Given the description of an element on the screen output the (x, y) to click on. 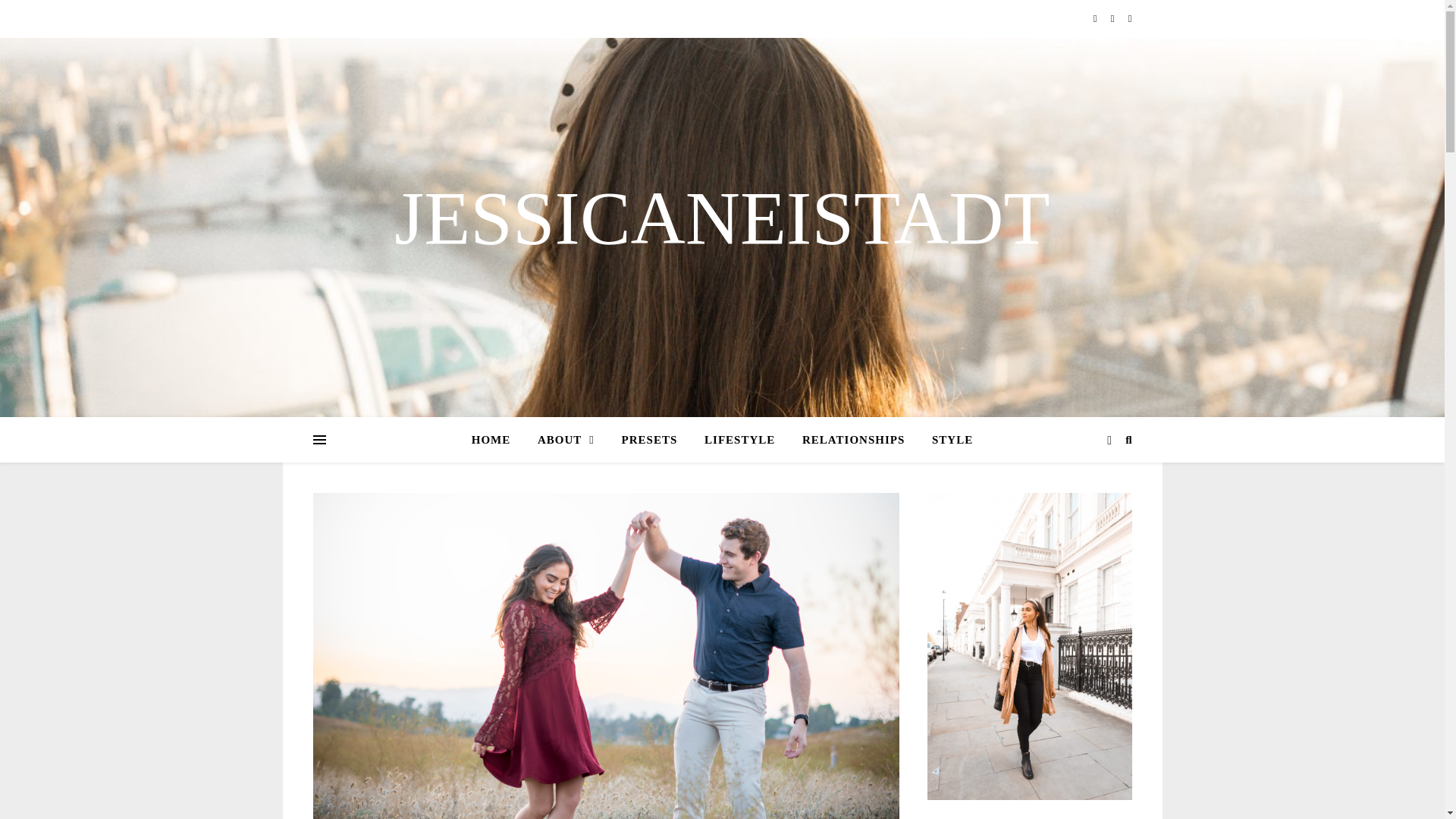
ABOUT (566, 439)
LIFESTYLE (740, 439)
RELATIONSHIPS (853, 439)
PRESETS (650, 439)
STYLE (946, 439)
HOME (496, 439)
